Given the description of an element on the screen output the (x, y) to click on. 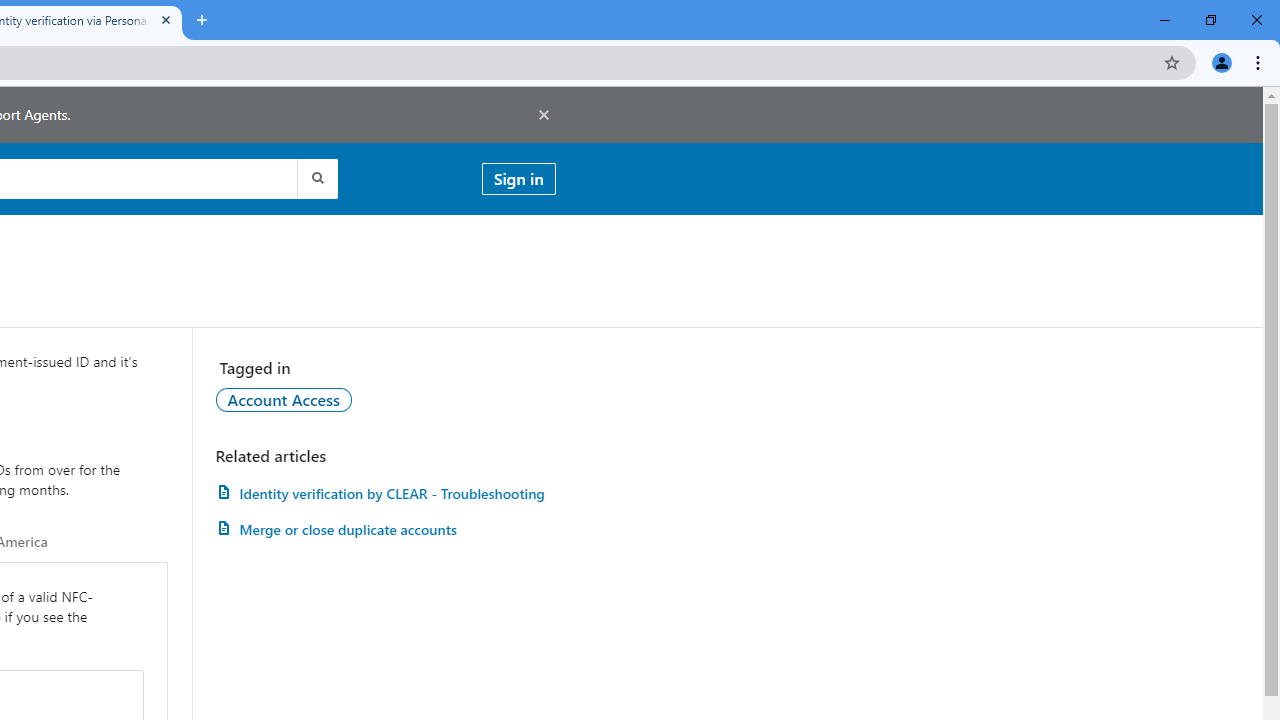
Identity verification by CLEAR - Troubleshooting (385, 493)
Submit search (316, 178)
Merge or close duplicate accounts (385, 529)
AutomationID: article-link-a1457505 (385, 493)
AutomationID: topic-link-a151002 (283, 399)
AutomationID: article-link-a1337200 (385, 529)
Account Access (283, 399)
